Given the description of an element on the screen output the (x, y) to click on. 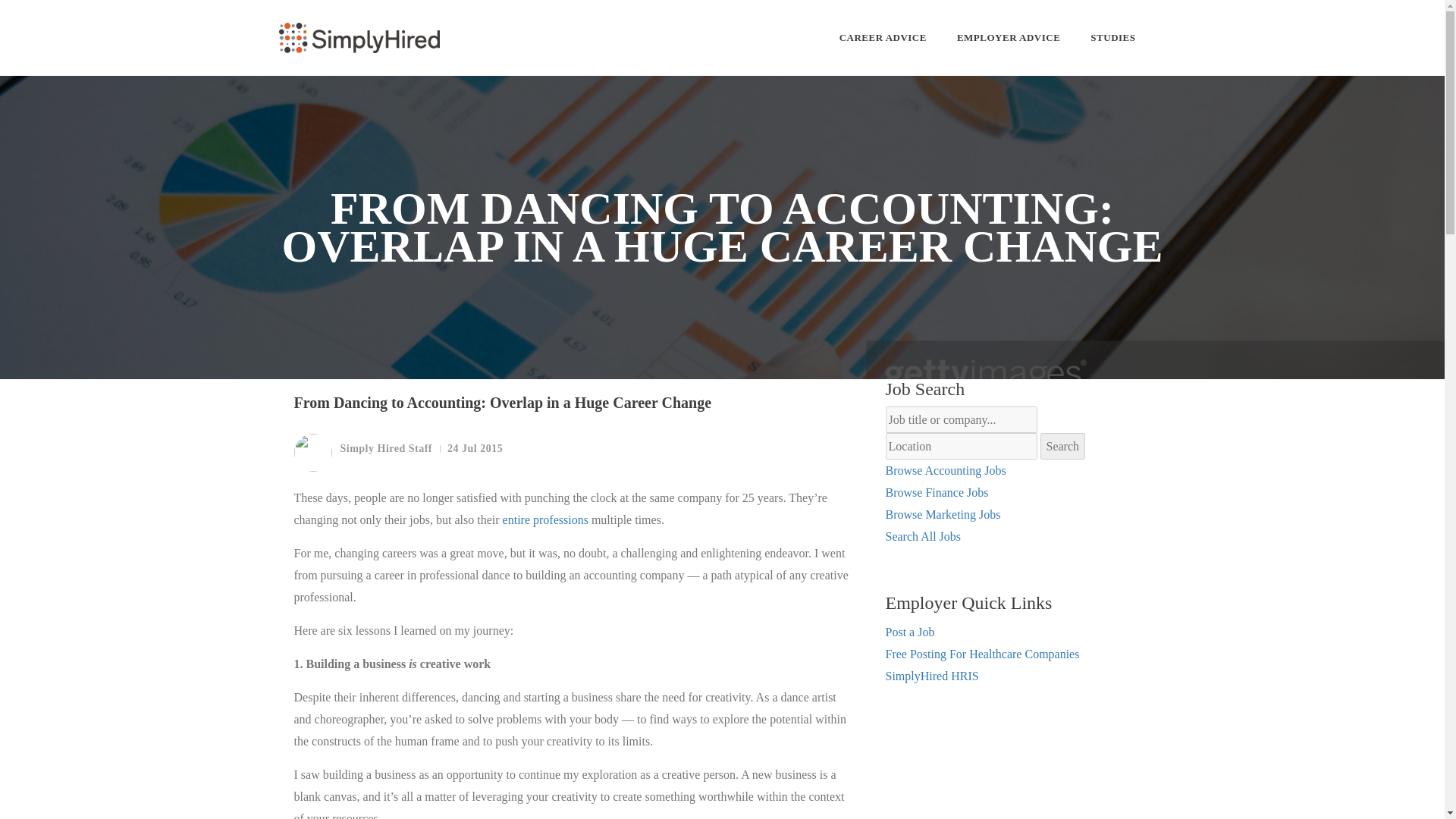
SimplyHired HRIS (931, 675)
Search (1063, 446)
entire professions (545, 519)
Simply Hired Staff (363, 452)
EMPLOYER ADVICE (1007, 38)
Browse Accounting Jobs (945, 470)
Search All Jobs (922, 535)
Browse Finance Jobs (936, 492)
Post a Job (909, 631)
Browse Marketing Jobs (943, 513)
